Given the description of an element on the screen output the (x, y) to click on. 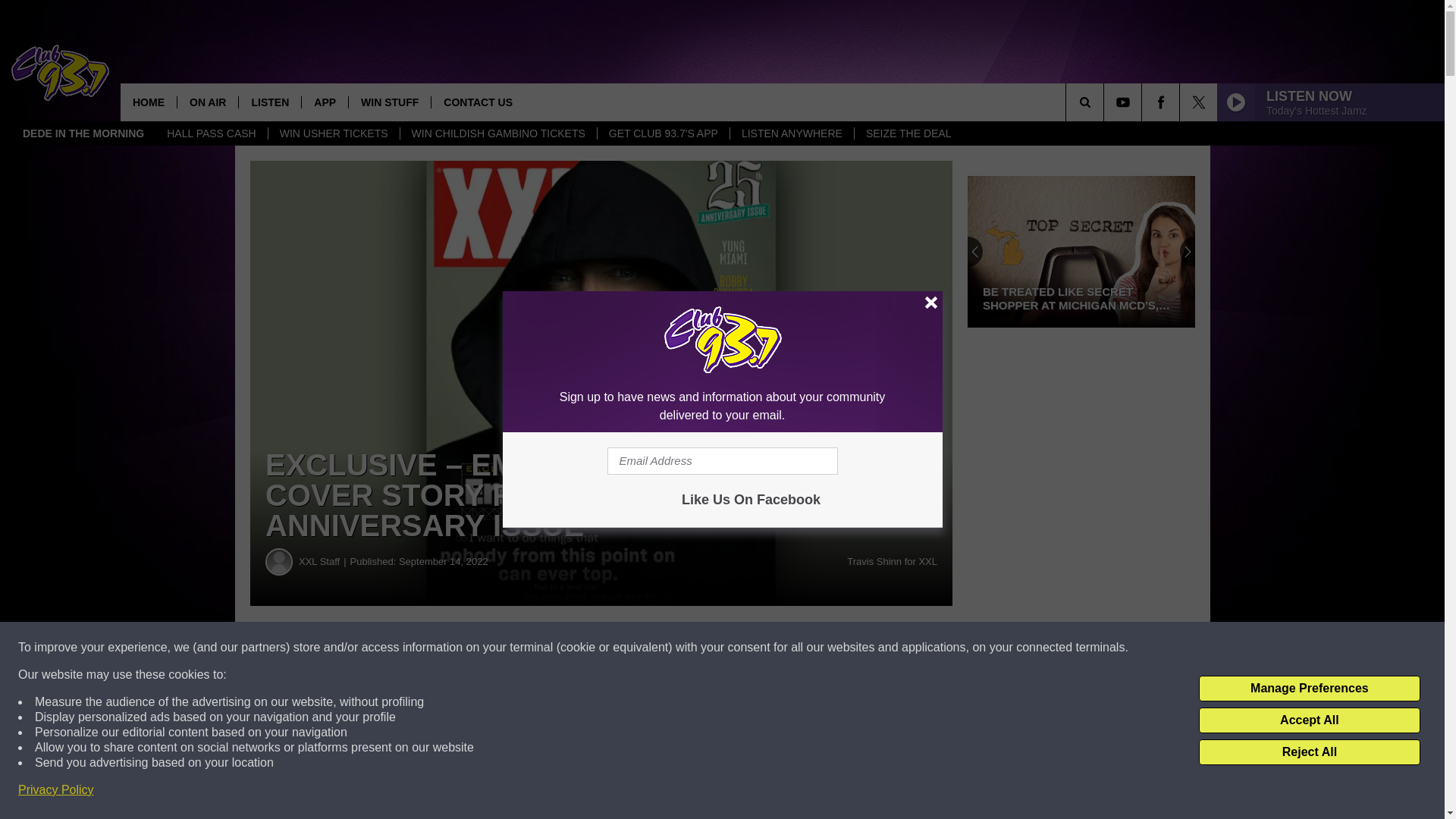
CONTACT US (477, 102)
Reject All (1309, 751)
SEIZE THE DEAL (907, 133)
Accept All (1309, 720)
SEARCH (1106, 102)
HALL PASS CASH (211, 133)
LISTEN (269, 102)
Email Address (722, 461)
WIN CHILDISH GAMBINO TICKETS (497, 133)
Privacy Policy (55, 789)
WIN STUFF (388, 102)
SEARCH (1106, 102)
HOME (148, 102)
LISTEN ANYWHERE (791, 133)
APP (324, 102)
